Given the description of an element on the screen output the (x, y) to click on. 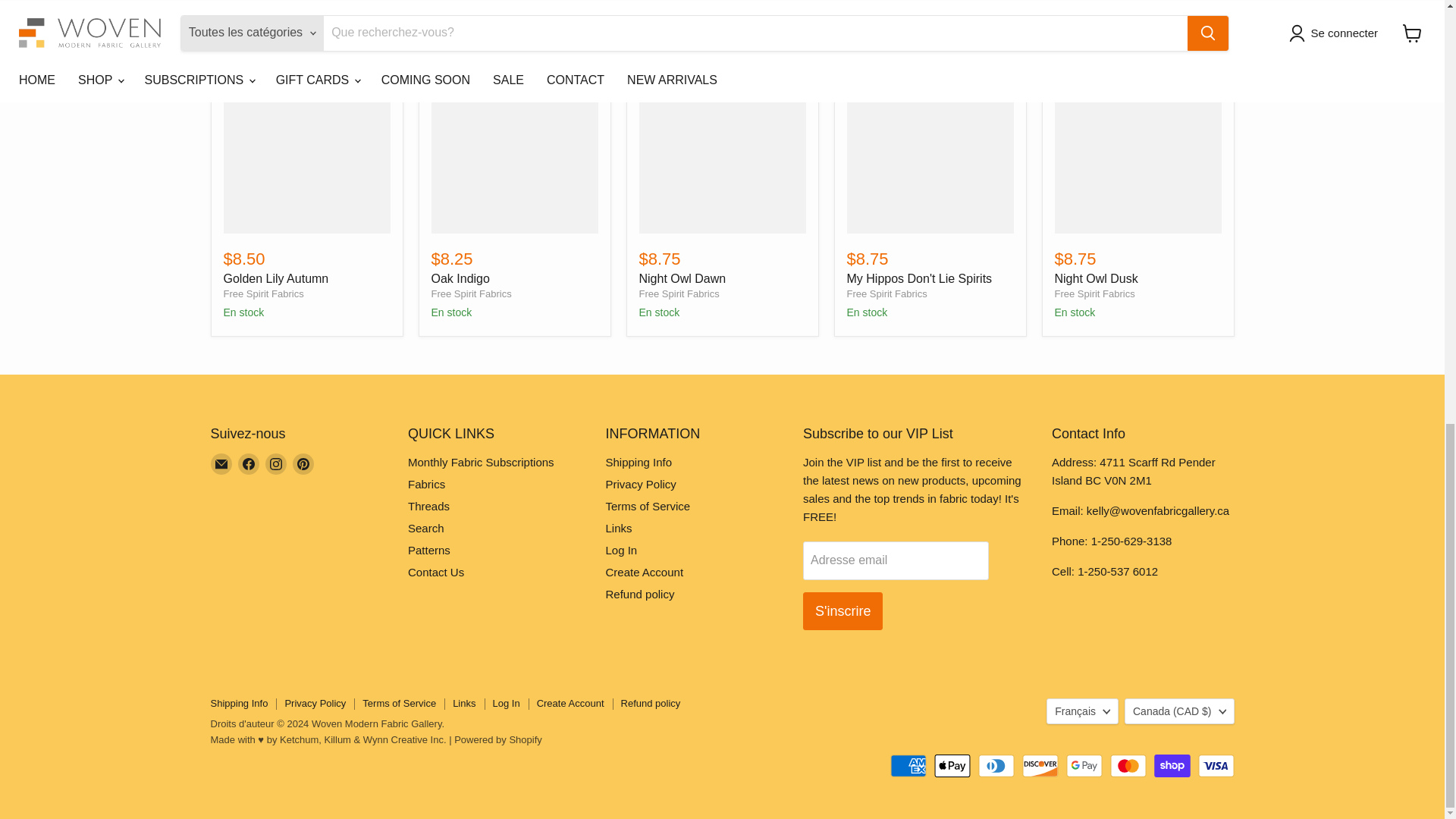
Free Spirit Fabrics (262, 293)
Free Spirit Fabrics (1094, 293)
Free Spirit Fabrics (679, 293)
Email (221, 464)
Free Spirit Fabrics (885, 293)
American Express (907, 765)
Free Spirit Fabrics (470, 293)
